Given the description of an element on the screen output the (x, y) to click on. 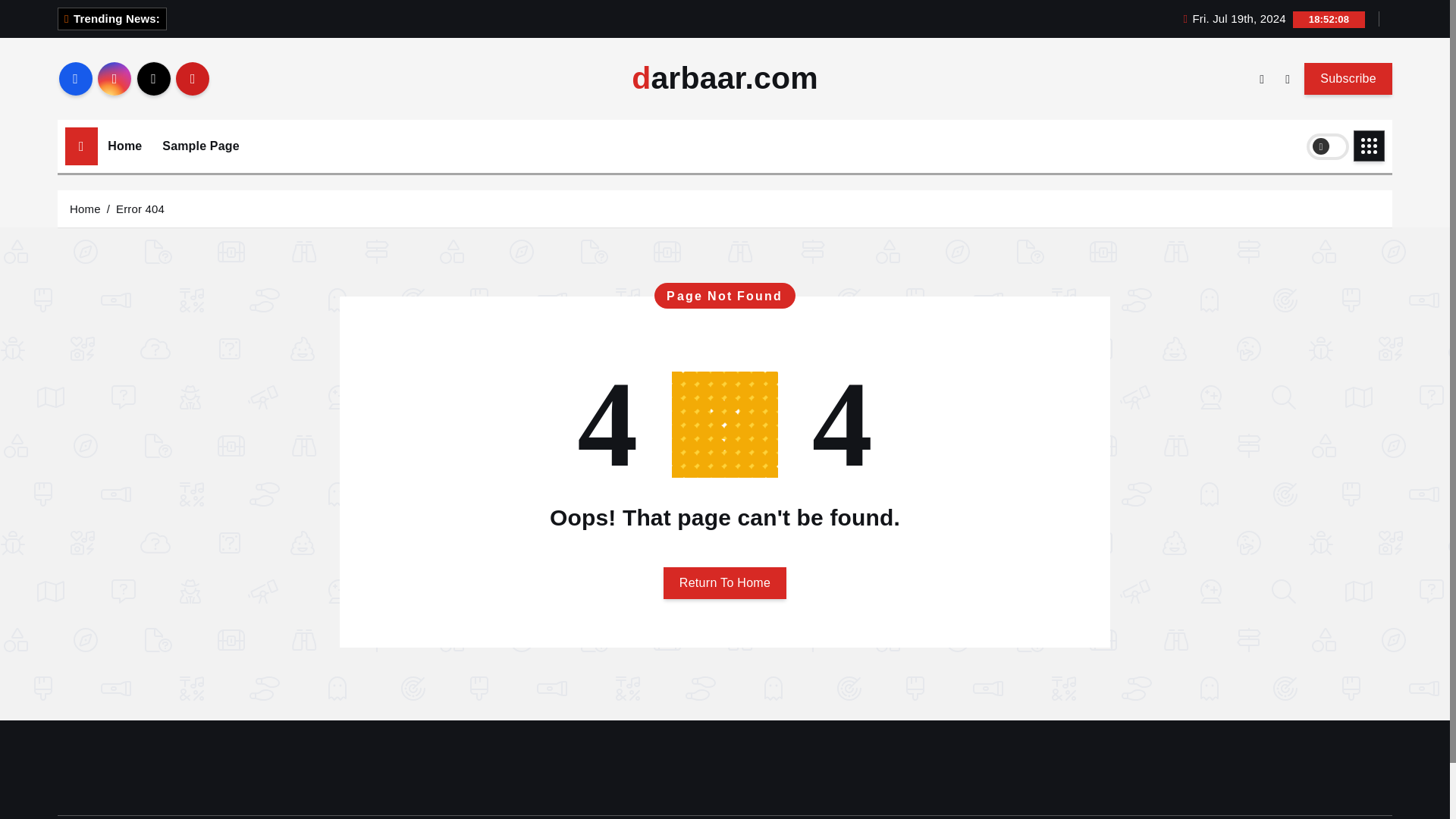
Error 404 (140, 207)
Home (124, 146)
Subscribe (1347, 78)
Return To Home (724, 582)
darbaar.com (724, 78)
Sample Page (200, 146)
Home (124, 146)
Home (84, 207)
